Given the description of an element on the screen output the (x, y) to click on. 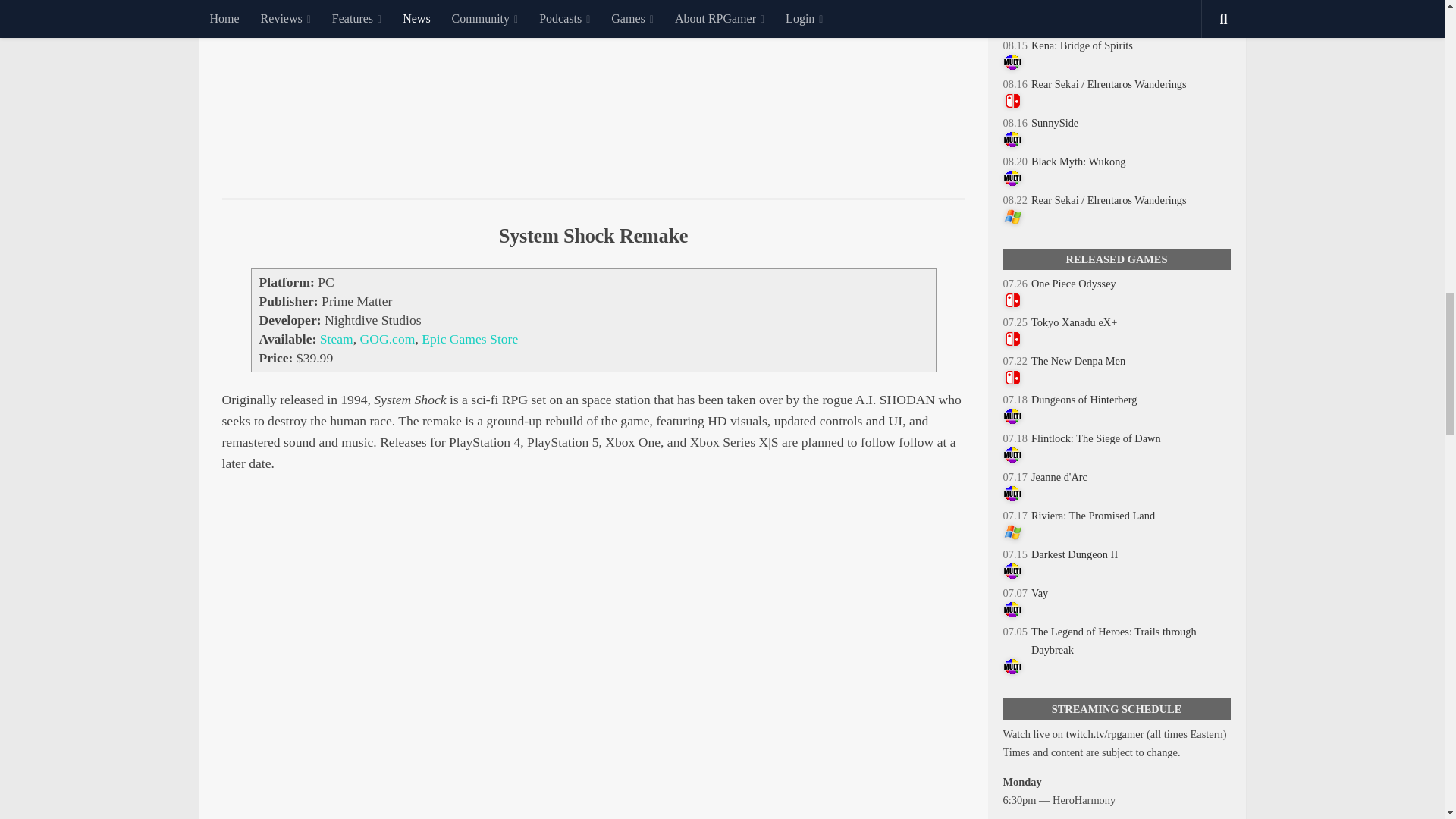
YouTube video player (592, 87)
